Given the description of an element on the screen output the (x, y) to click on. 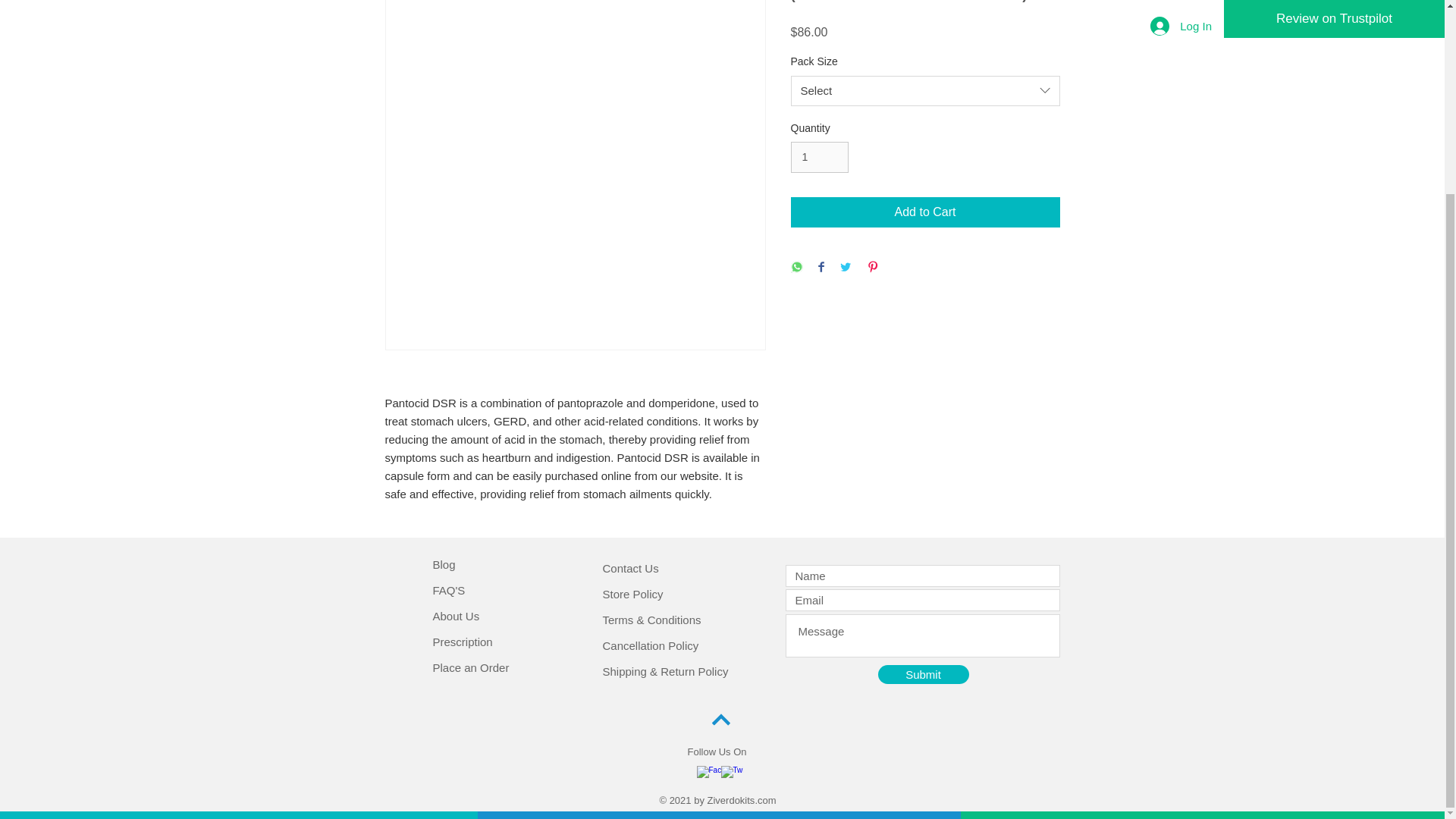
FAQ'S (448, 590)
Cancellation Policy (650, 645)
.com (765, 799)
Prescription (462, 641)
Add to Cart (924, 212)
1 (818, 156)
Store Policy (632, 594)
Submit (923, 674)
Blog (443, 563)
Select (924, 91)
